Given the description of an element on the screen output the (x, y) to click on. 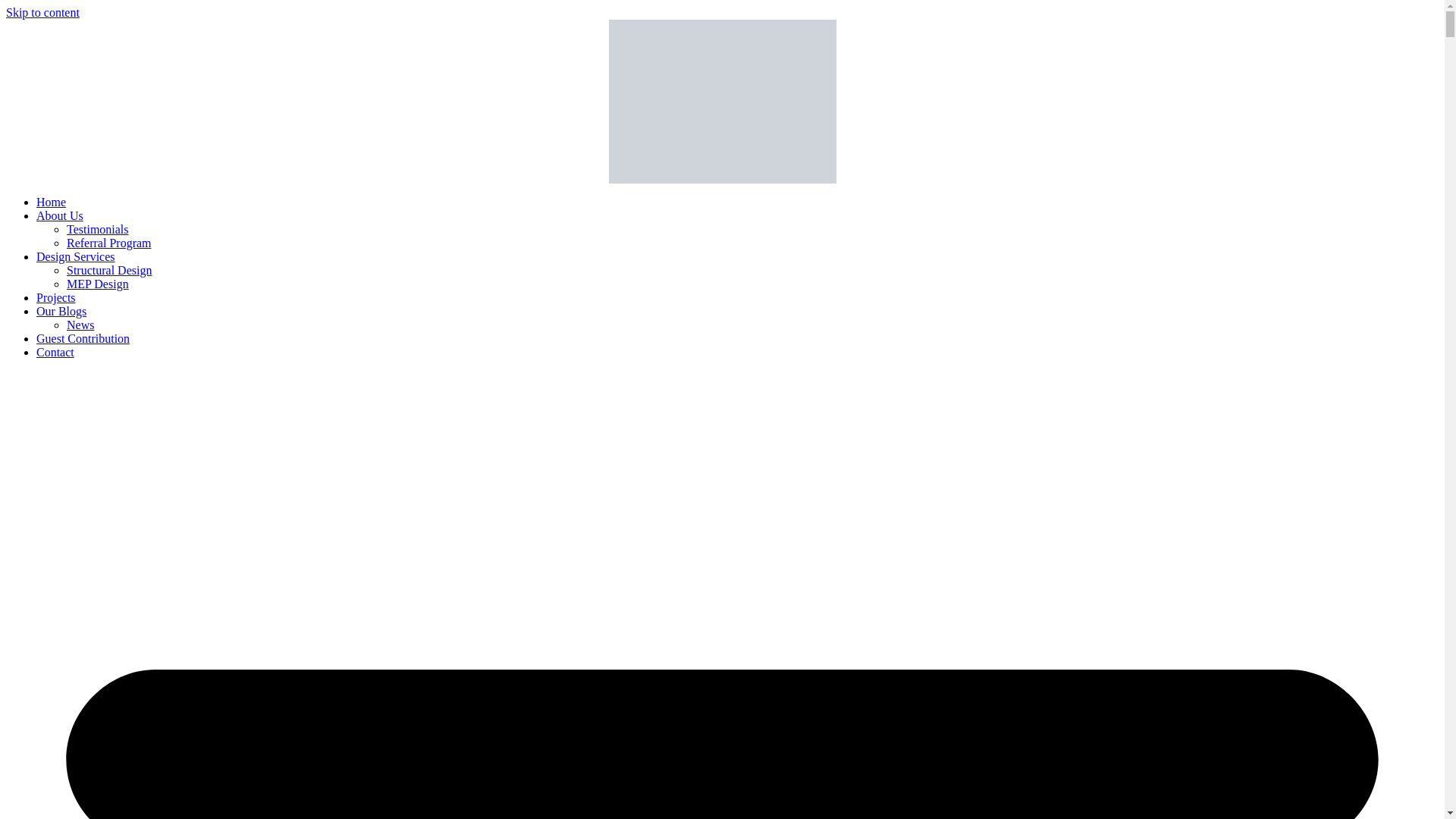
Design Services (75, 256)
Our Blogs (60, 310)
News (80, 324)
Guest Contribution (82, 338)
Referral Program (108, 242)
Testimonials (97, 228)
Contact (55, 351)
About Us (59, 215)
MEP Design (97, 283)
Projects (55, 297)
Structural Design (108, 269)
Home (50, 201)
Skip to content (42, 11)
